Given the description of an element on the screen output the (x, y) to click on. 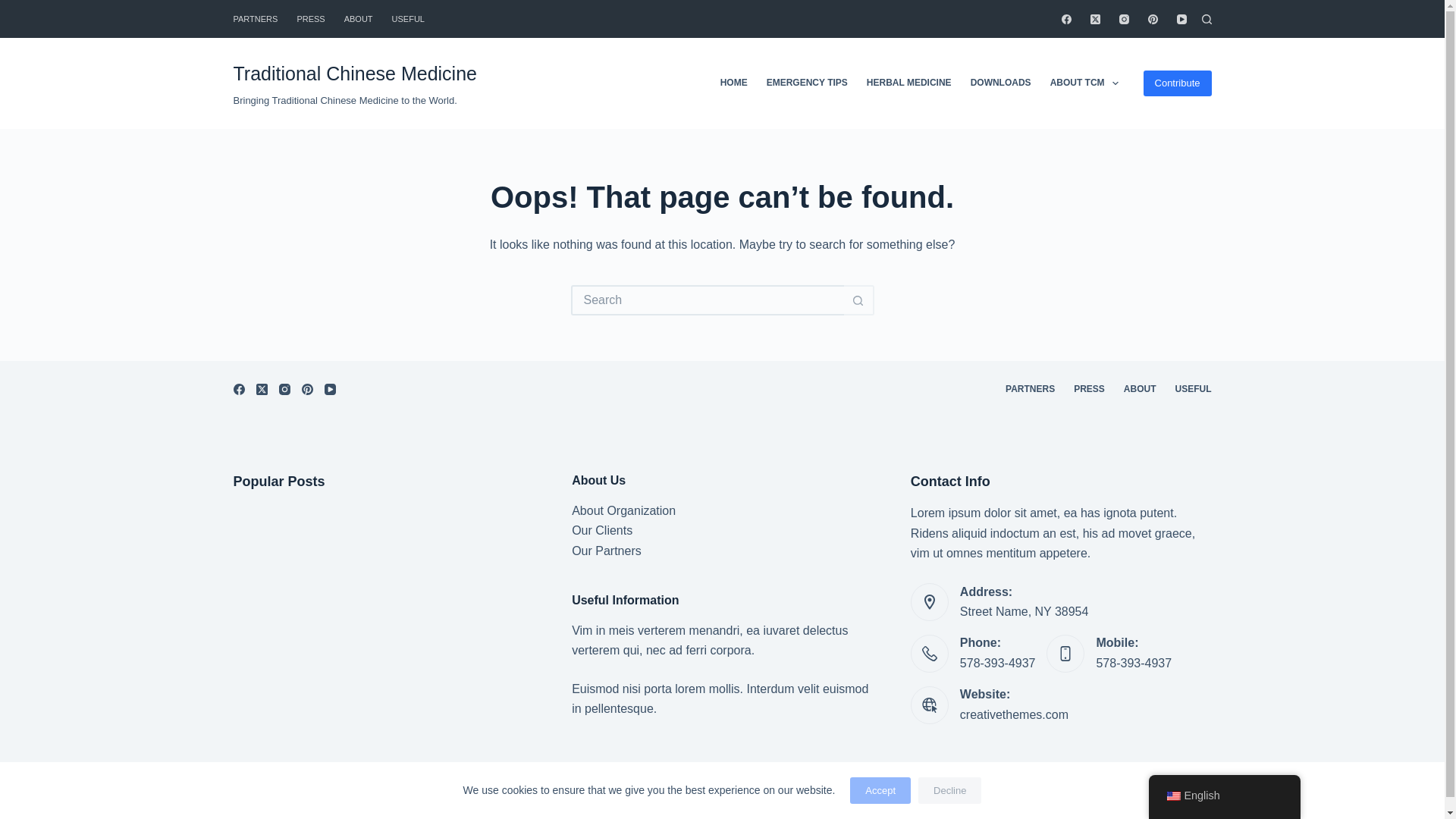
Decline (949, 790)
Traditional Chinese Medicine (354, 73)
USEFUL (407, 18)
Accept (880, 790)
EMERGENCY TIPS (807, 82)
PARTNERS (259, 18)
Skip to content (15, 7)
Search for... (706, 300)
English (1172, 795)
HERBAL MEDICINE (908, 82)
ABOUT TCM (1083, 82)
ABOUT (357, 18)
PRESS (310, 18)
